Given the description of an element on the screen output the (x, y) to click on. 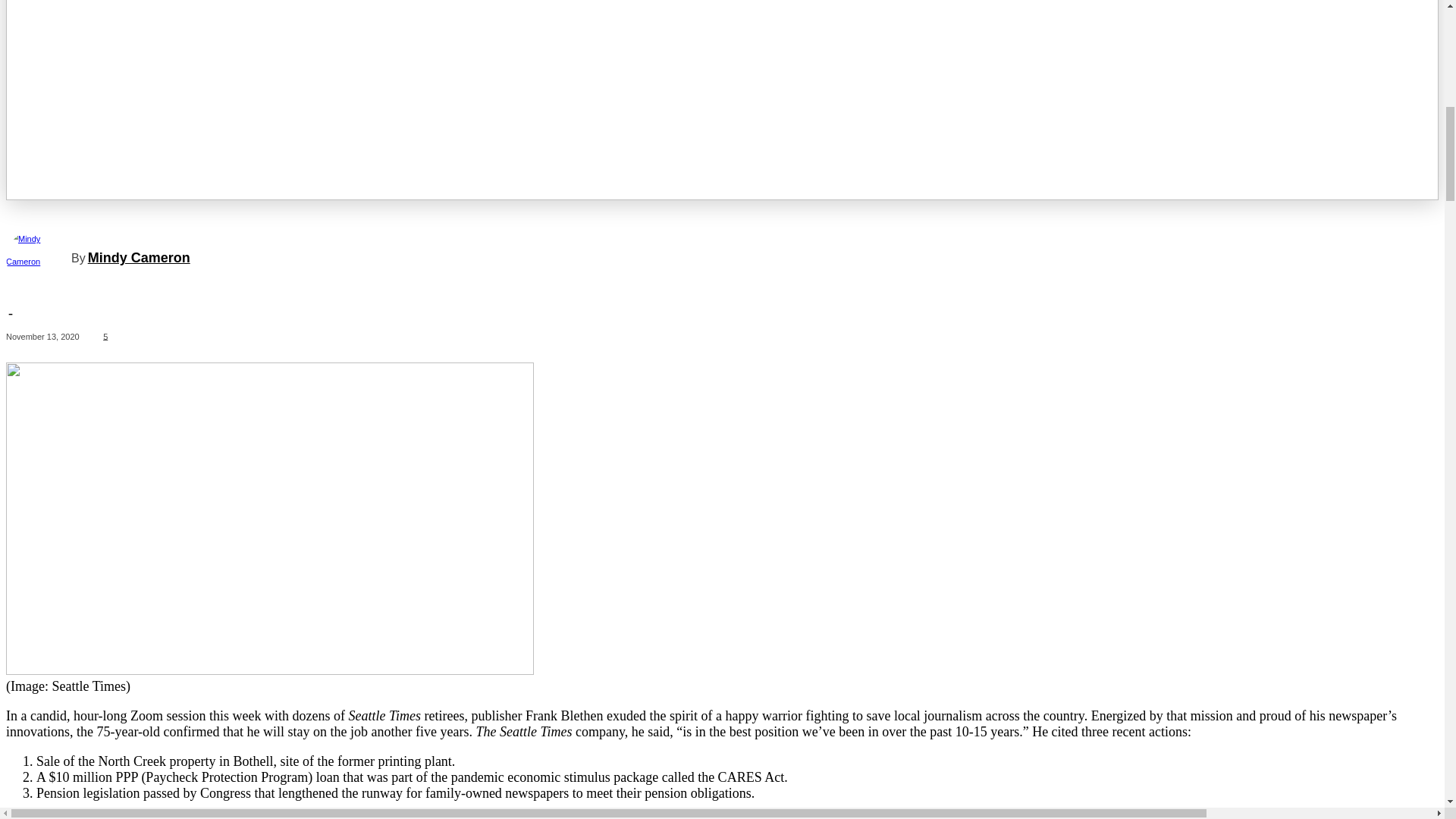
Mindy Cameron (38, 257)
